Given the description of an element on the screen output the (x, y) to click on. 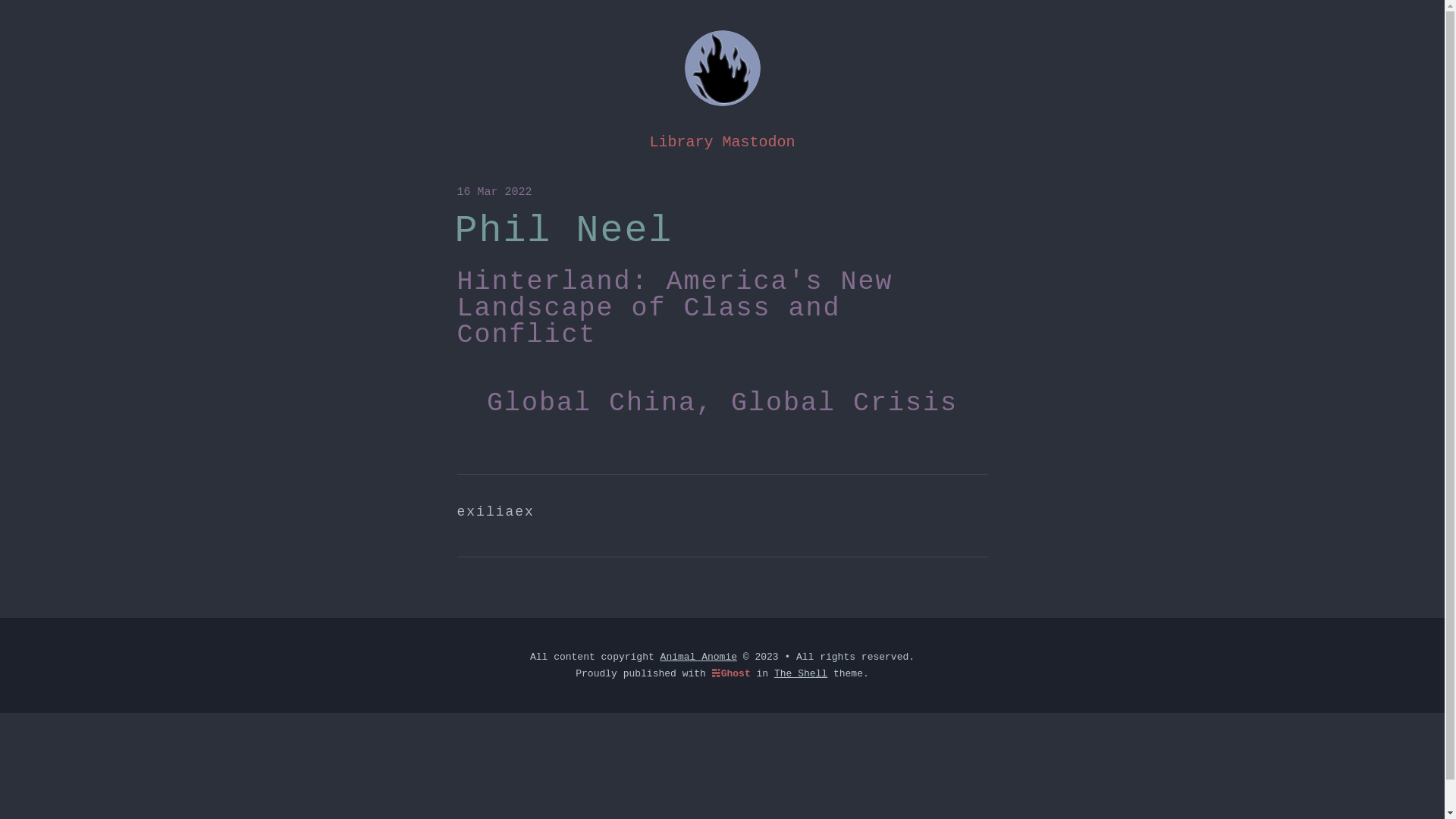
Ghost Element type: text (731, 672)
Mastodon Element type: text (757, 141)
Library Element type: text (680, 141)
Global China, Global Crisis Element type: text (721, 403)
Animal Anomie Element type: text (698, 656)
The Shell Element type: text (800, 673)
Hinterland: America's New Landscape of Class and Conflict Element type: text (674, 308)
